Given the description of an element on the screen output the (x, y) to click on. 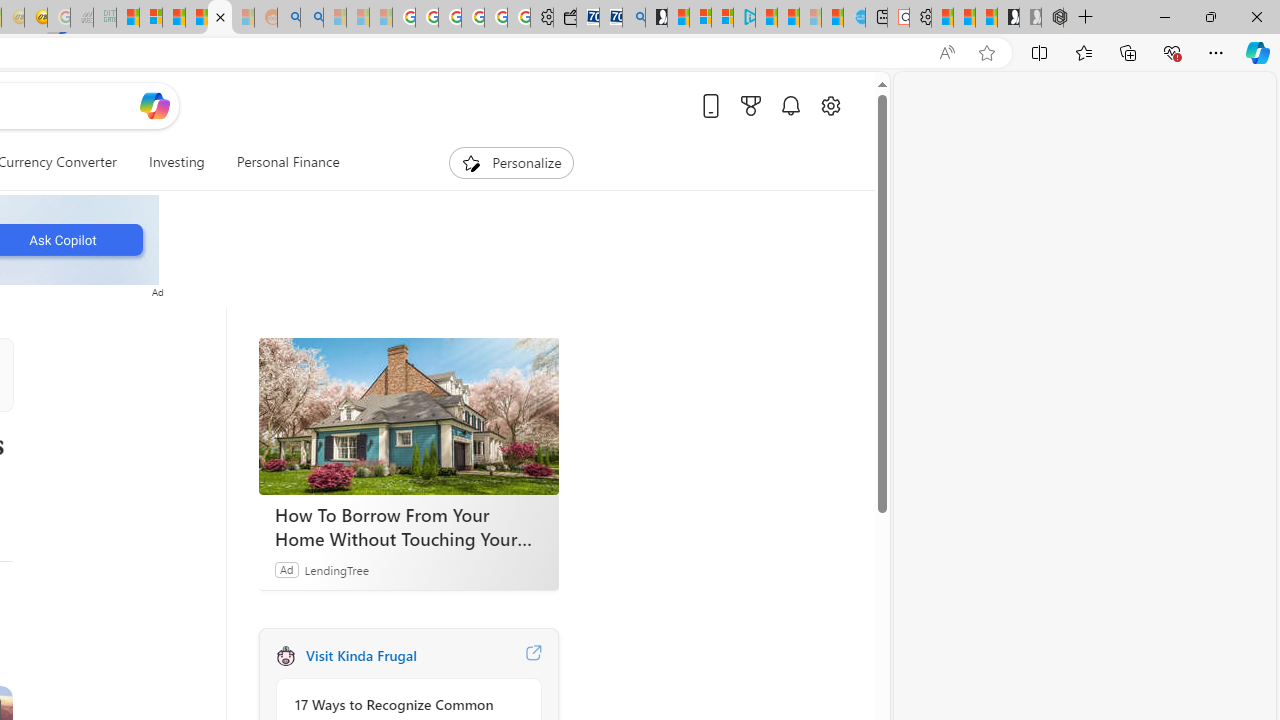
How To Borrow From Your Home Without Touching Your Mortgage (407, 526)
Microsoft account | Privacy - Sleeping (699, 17)
MSNBC - MSN (127, 17)
Kinda Frugal (285, 655)
Cheap Car Rentals - Save70.com (611, 17)
Personalize (511, 162)
New tab (876, 17)
Microsoft rewards (749, 105)
Open Copilot (155, 105)
Open Copilot (155, 105)
Investing (176, 162)
Open settings (830, 105)
Visit Kinda Frugal website (532, 655)
